Given the description of an element on the screen output the (x, y) to click on. 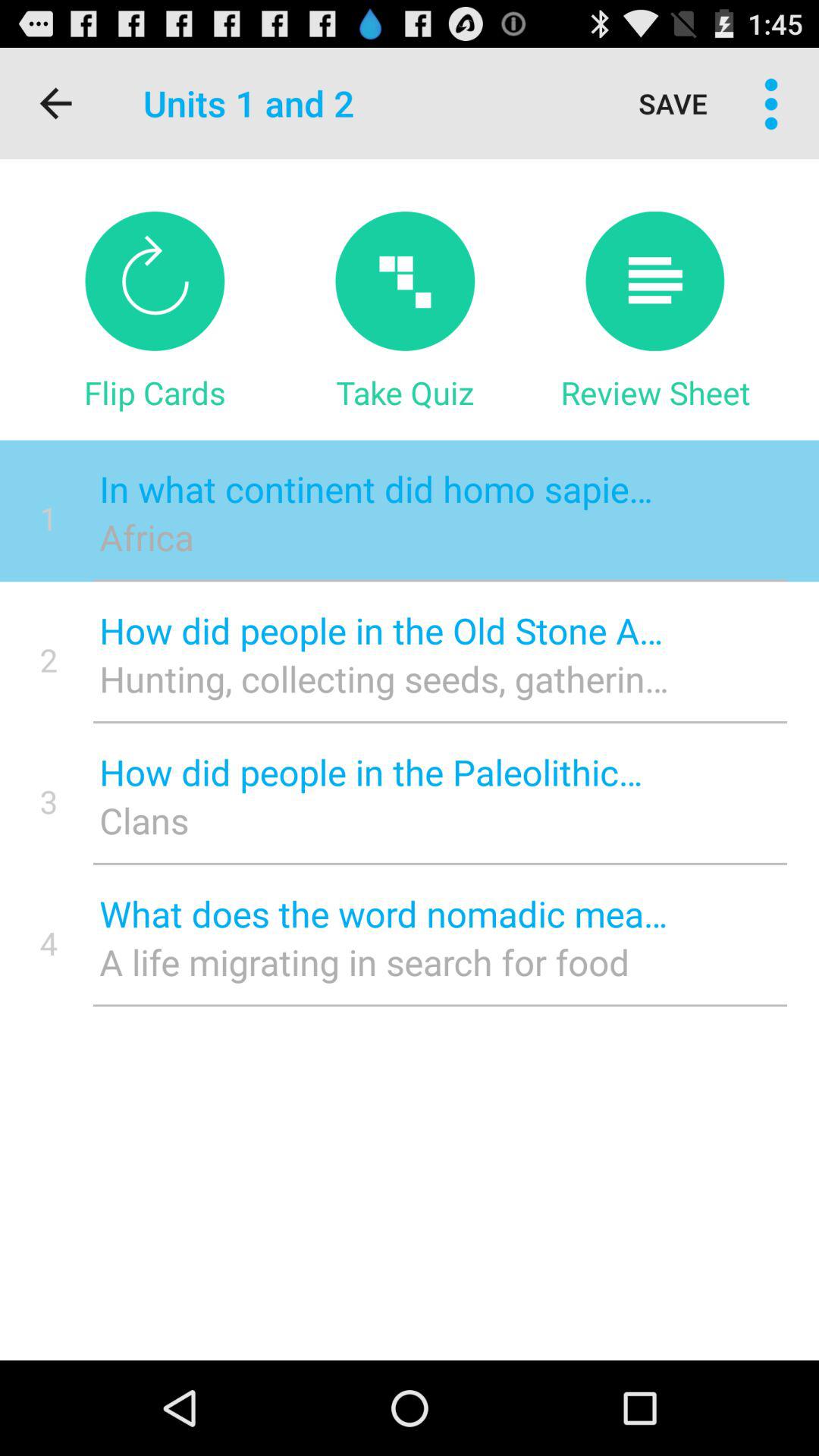
swipe to the africa (384, 537)
